Given the description of an element on the screen output the (x, y) to click on. 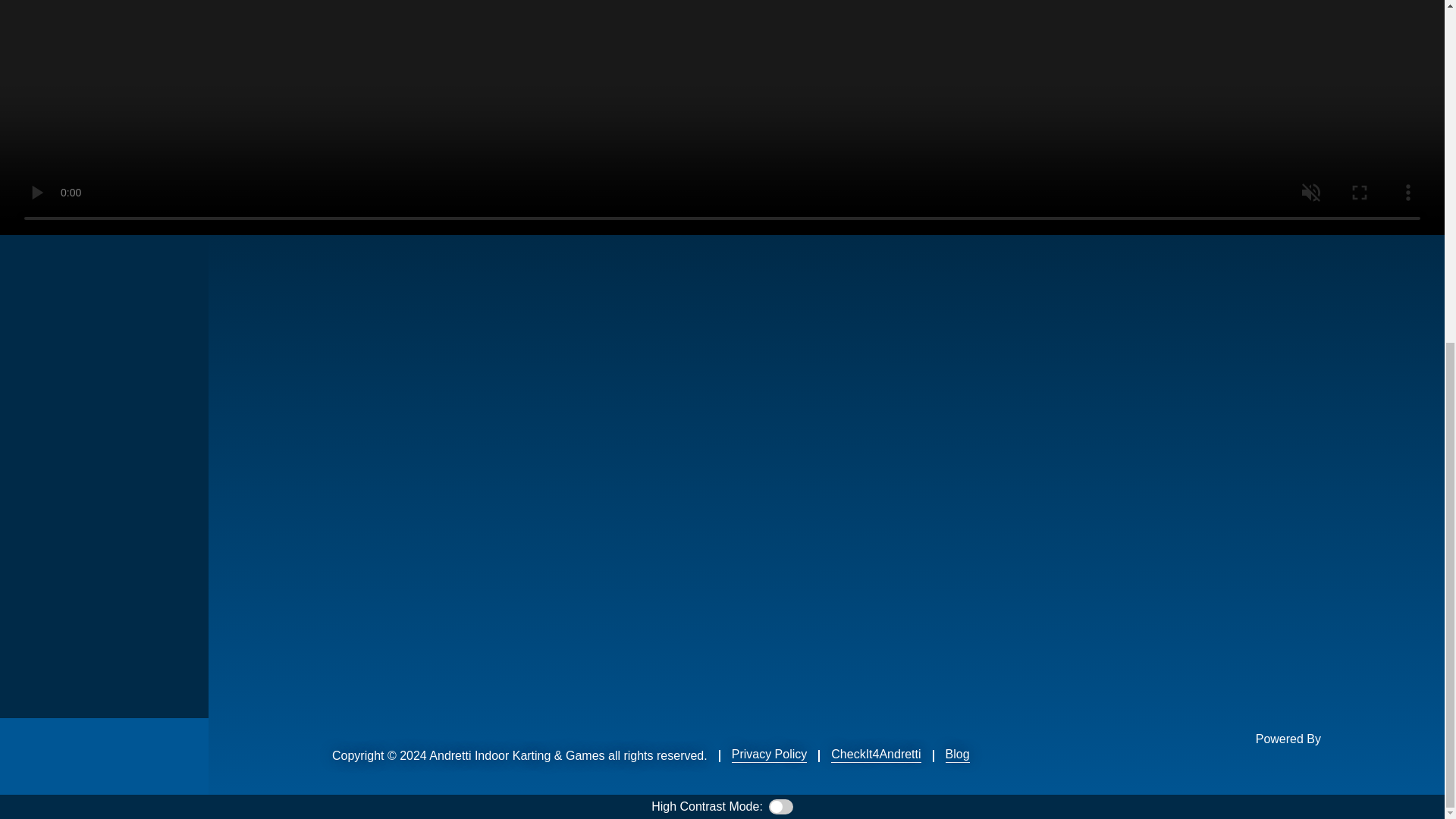
Instagram (141, 755)
Privacy Policy (770, 754)
DynamiX (1282, 765)
Facebook (27, 755)
tiktok (179, 755)
Facebook (27, 755)
Tiktok (179, 755)
CheckIt4Andretti (875, 754)
YouTube (103, 755)
Blog (956, 754)
Instagram (141, 755)
YouTube (103, 755)
